Given the description of an element on the screen output the (x, y) to click on. 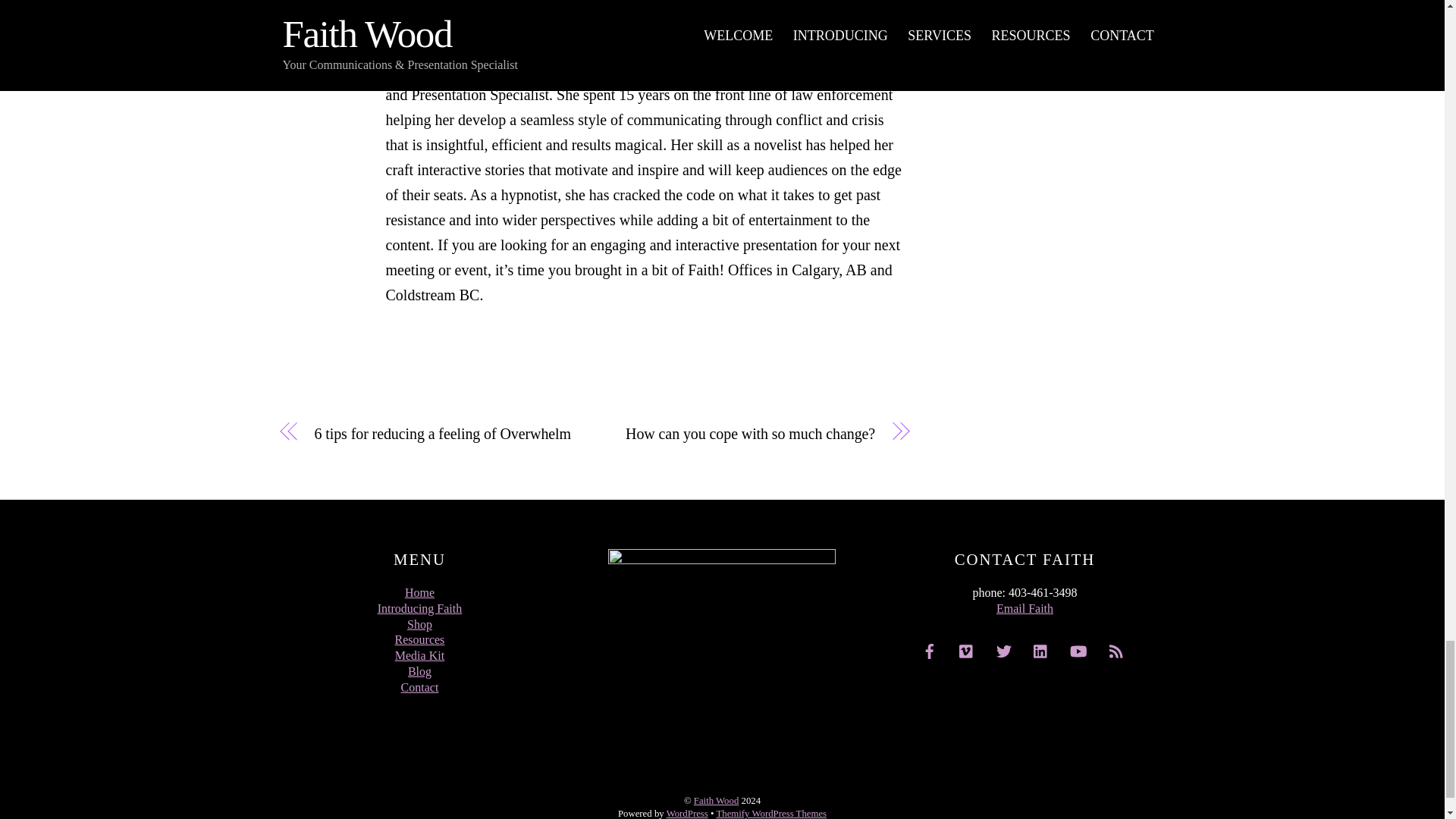
Contact (420, 686)
Home (418, 592)
Media Kit (419, 655)
Resources (419, 639)
Introducing Faith (420, 608)
Email Faith (1023, 608)
6 tips for reducing a feeling of Overwhelm (444, 433)
Blog (418, 671)
Shop (419, 624)
How can you cope with so much change? (743, 433)
